Given the description of an element on the screen output the (x, y) to click on. 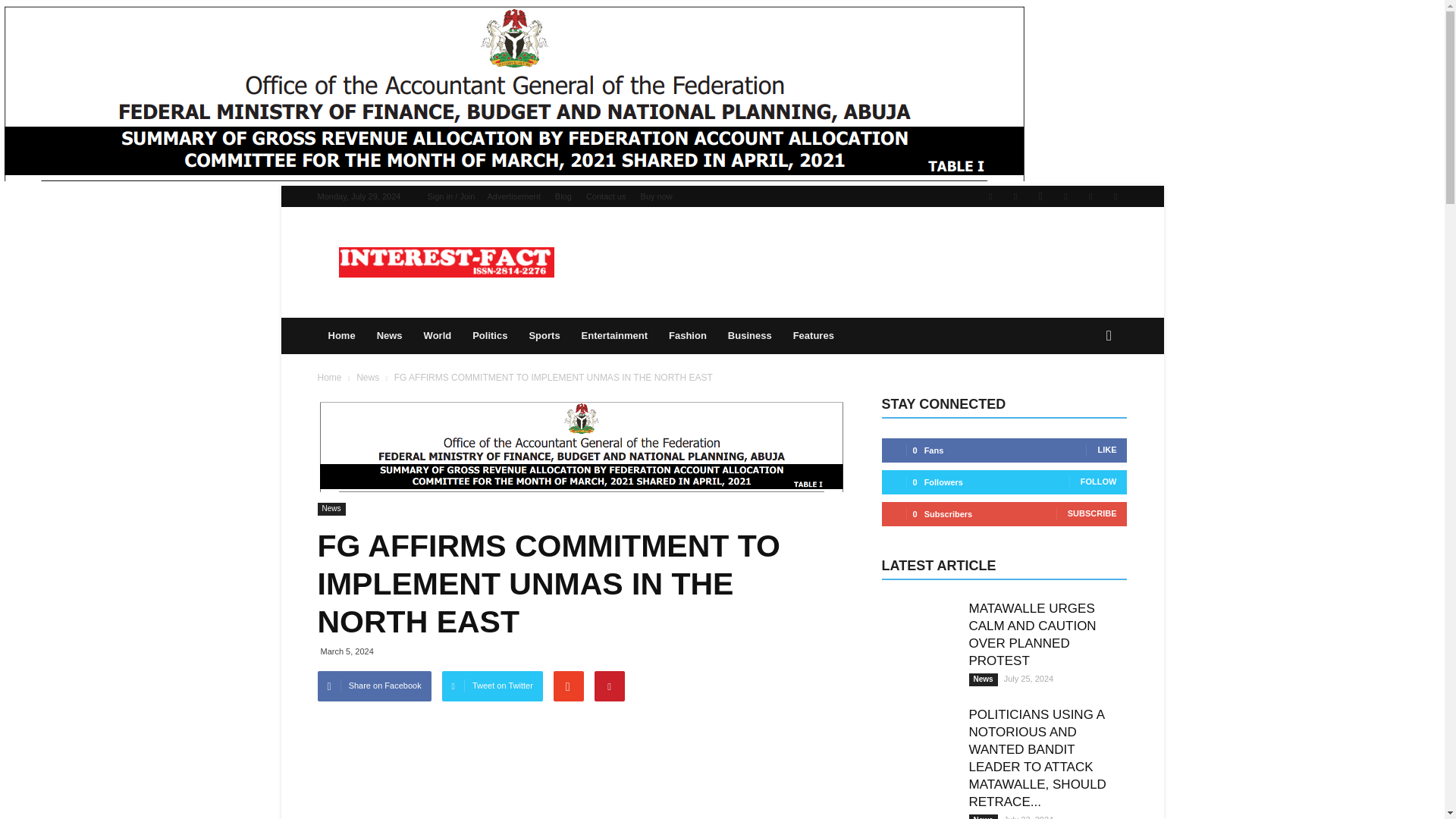
Behance (989, 195)
Vimeo (1090, 195)
Buy now (656, 195)
VKontakte (1114, 195)
Advertisement (513, 195)
Facebook (1015, 195)
Twitter (1065, 195)
Contact us (606, 195)
Instagram (1040, 195)
View all posts in News (368, 377)
Blog (563, 195)
